Given the description of an element on the screen output the (x, y) to click on. 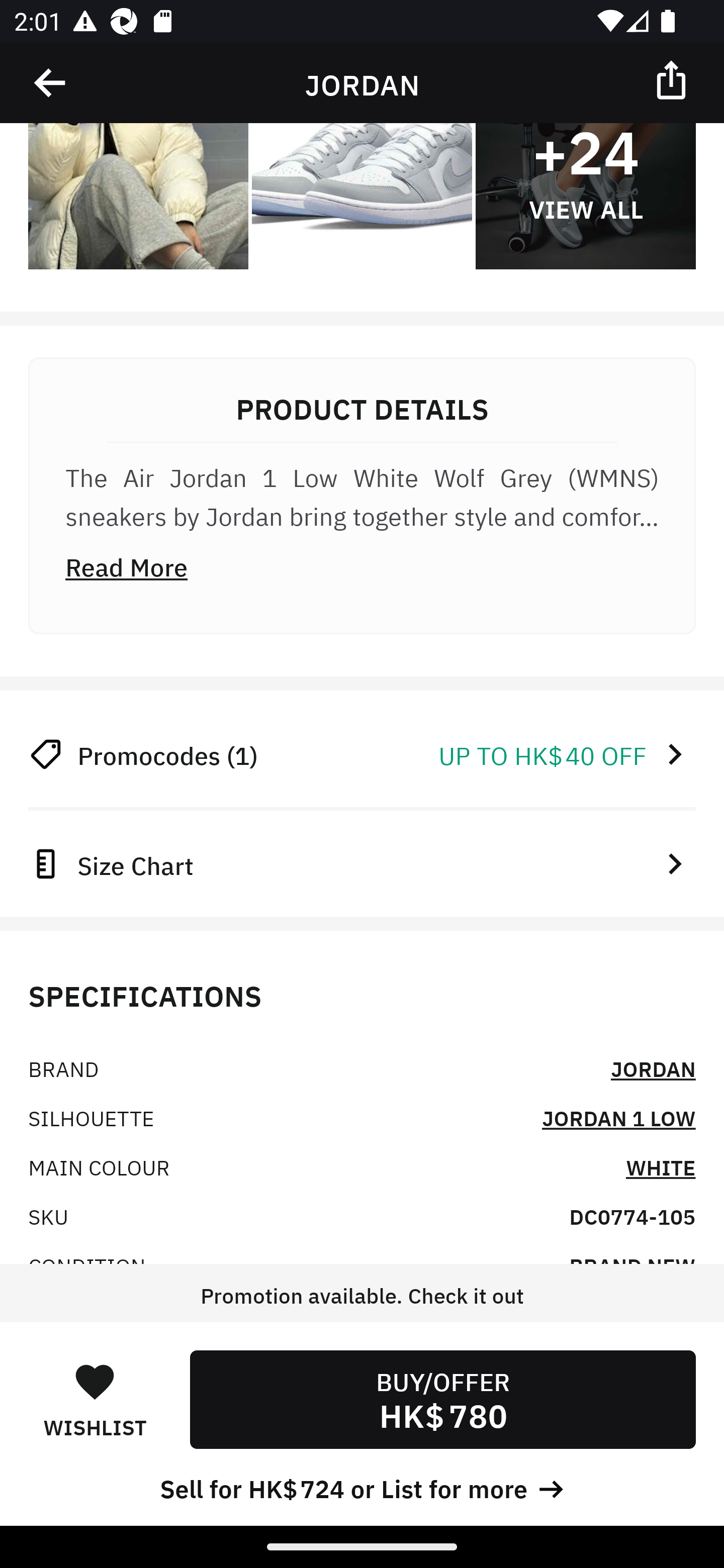
 (50, 83)
 (672, 79)
+24 VIEW ALL (585, 174)
Promocodes (1) UP TO HK$ 40 OFF  (361, 754)
Size Chart  (361, 863)
JORDAN (653, 1067)
JORDAN 1 LOW (618, 1117)
WHITE (660, 1166)
DC0774-105 (632, 1215)
BUY/OFFER HK$ 780 (442, 1399)
󰋑 (94, 1380)
Sell for HK$ 724 or List for more (361, 1486)
